Given the description of an element on the screen output the (x, y) to click on. 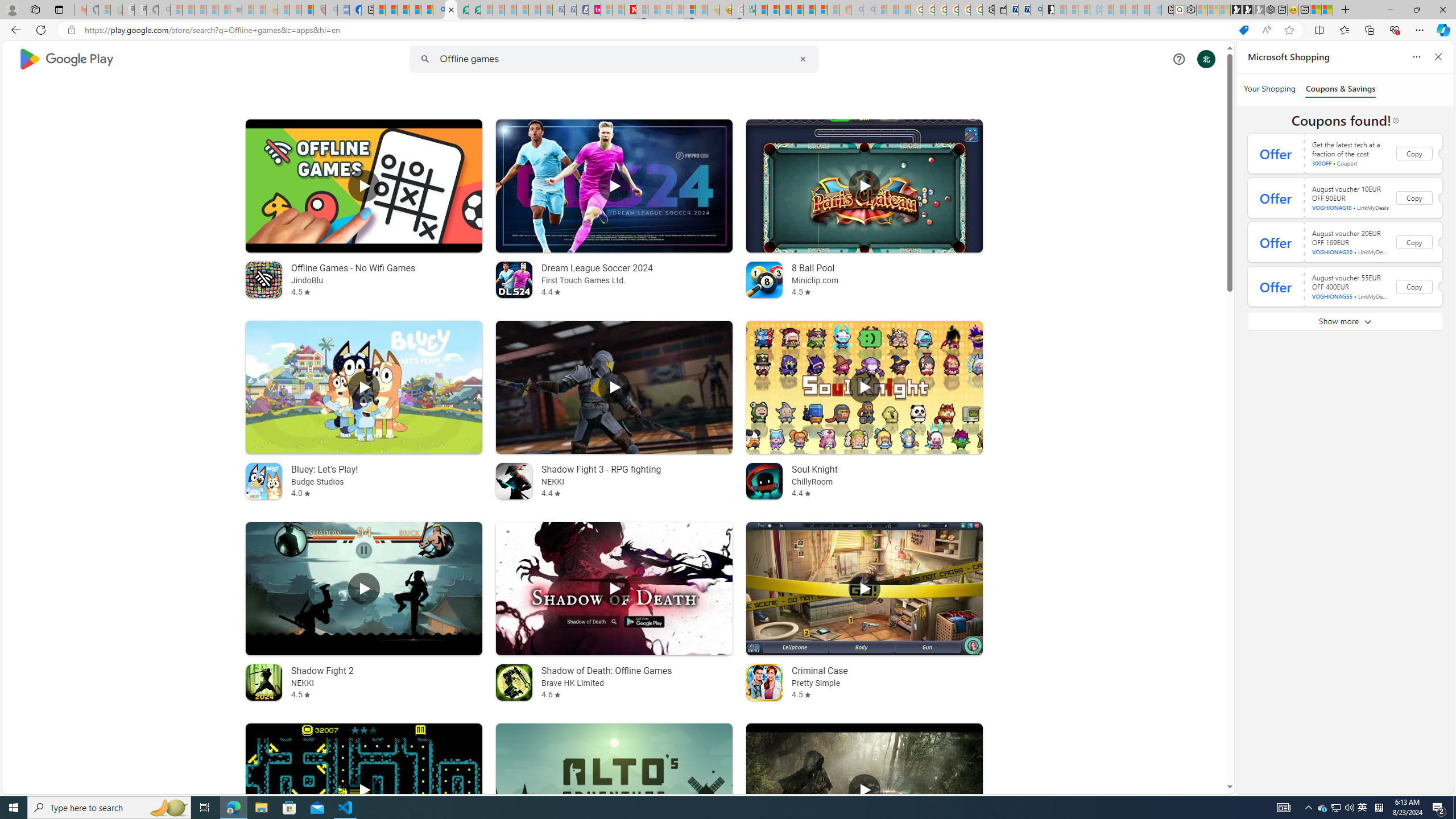
Play Soul Knight (864, 386)
Add this page to favorites (Ctrl+D) (1289, 29)
Copilot (Ctrl+Shift+.) (1442, 29)
Minimize (1390, 9)
Cheap Car Rentals - Save70.com (1024, 9)
Help Center (1178, 58)
New tab (1304, 9)
Home | Sky Blue Bikes - Sky Blue Bikes - Sleeping (1155, 9)
Microsoft-Report a Concern to Bing - Sleeping (104, 9)
Workspaces (34, 9)
